Given the description of an element on the screen output the (x, y) to click on. 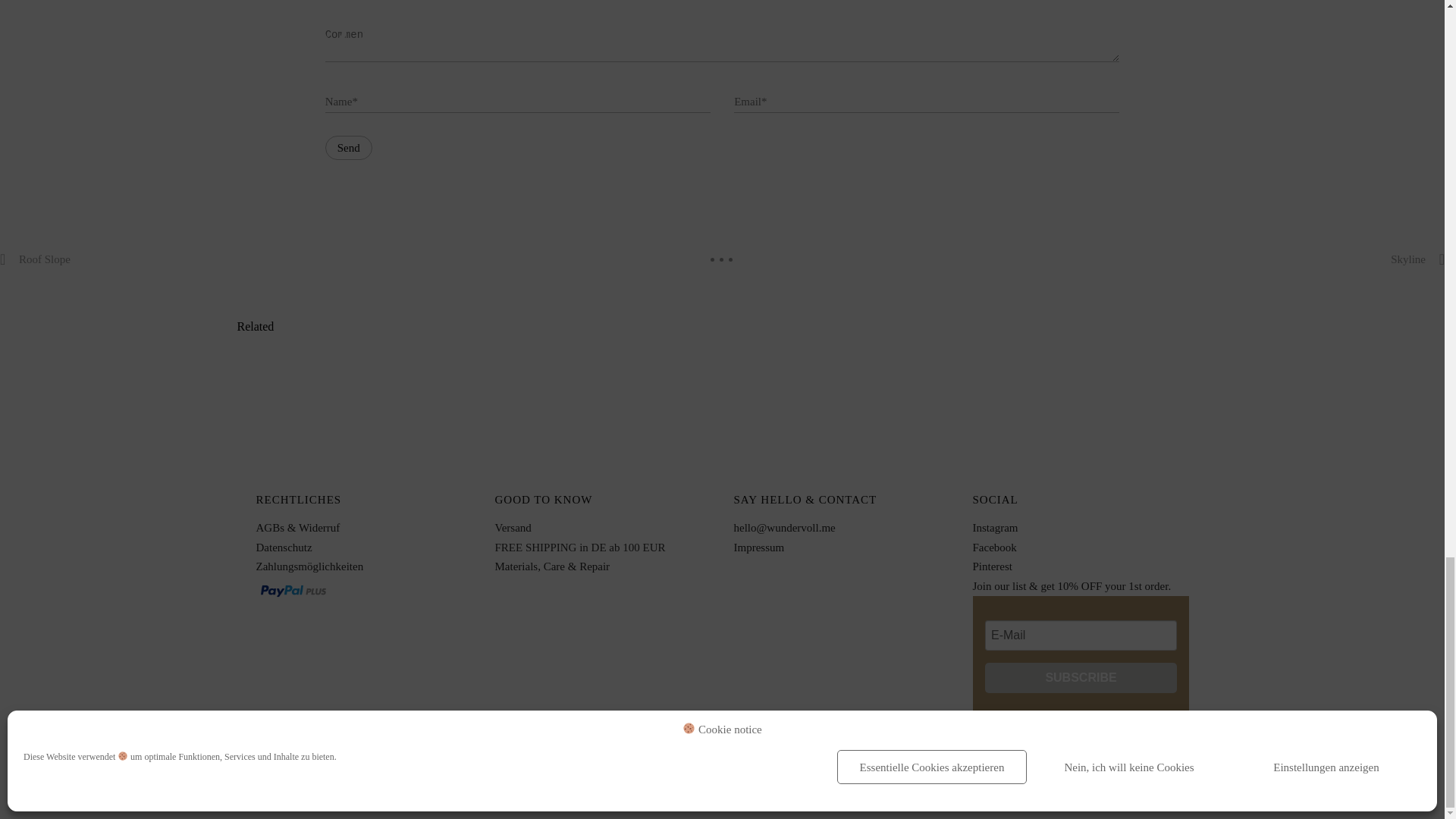
Send (348, 147)
